Given the description of an element on the screen output the (x, y) to click on. 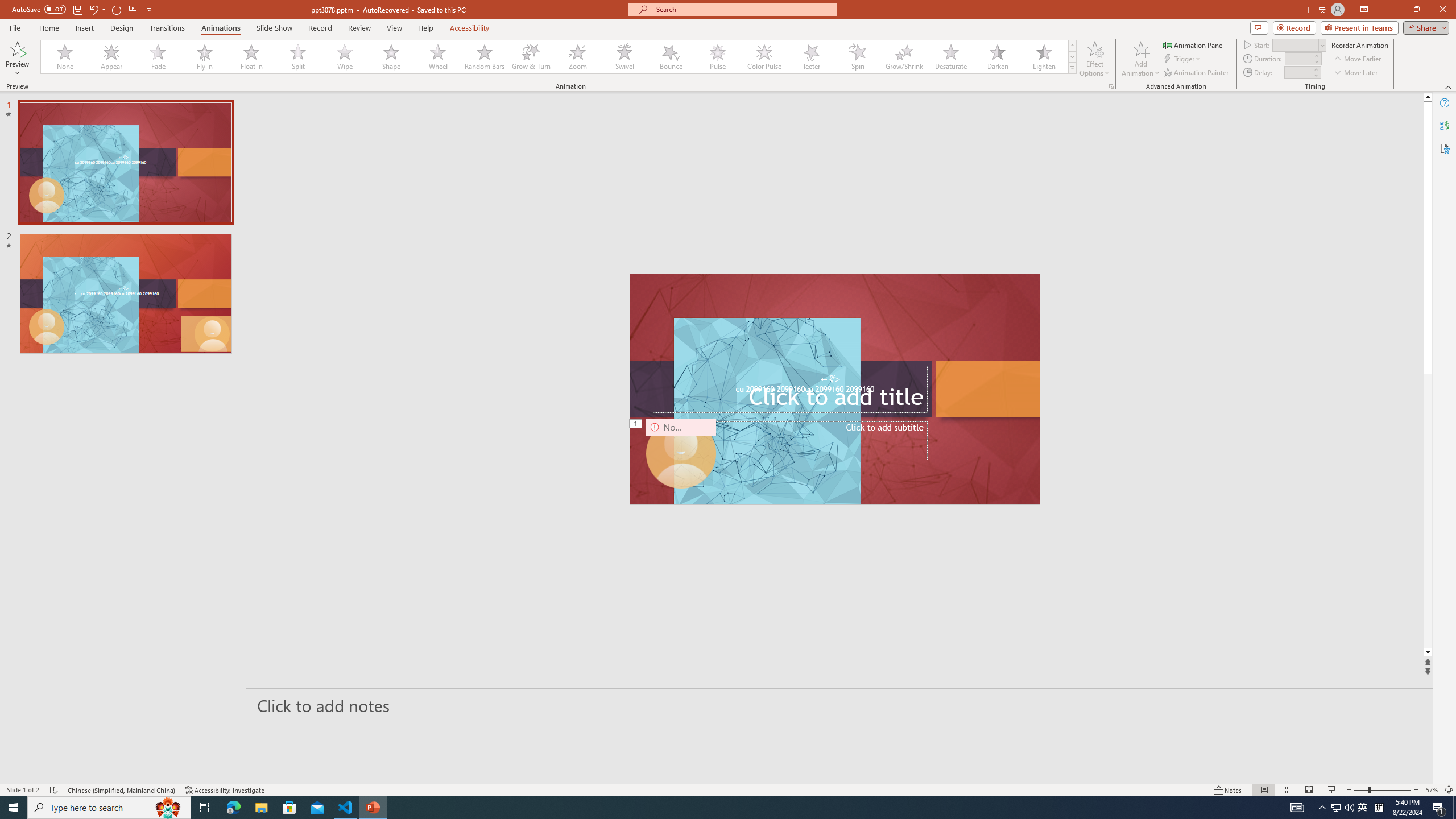
Grow/Shrink (903, 56)
Zoom 57% (1431, 790)
Slide Notes (839, 705)
Subtitle TextBox (789, 440)
